Given the description of an element on the screen output the (x, y) to click on. 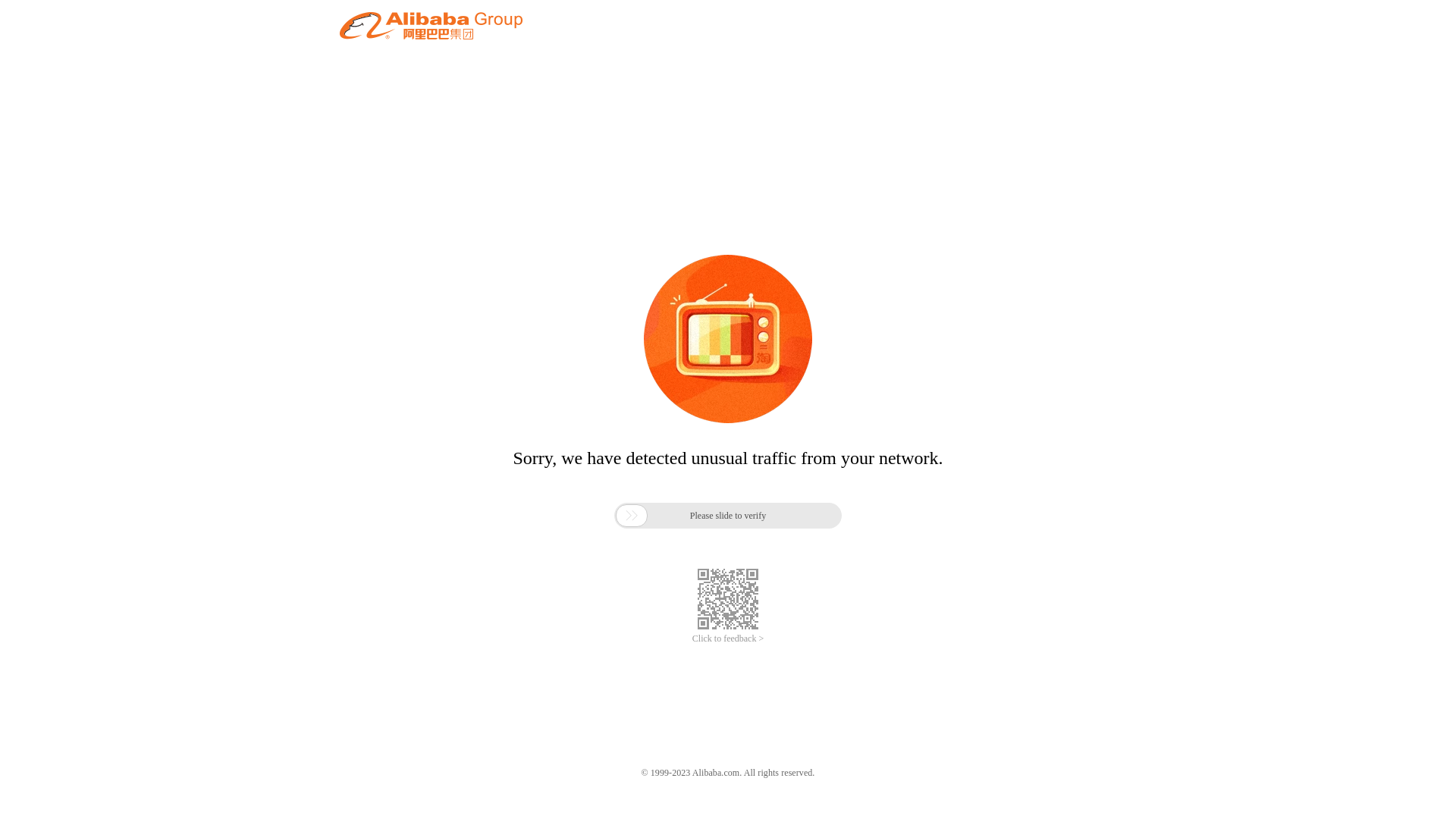
Click to feedback > Element type: text (727, 638)
